Given the description of an element on the screen output the (x, y) to click on. 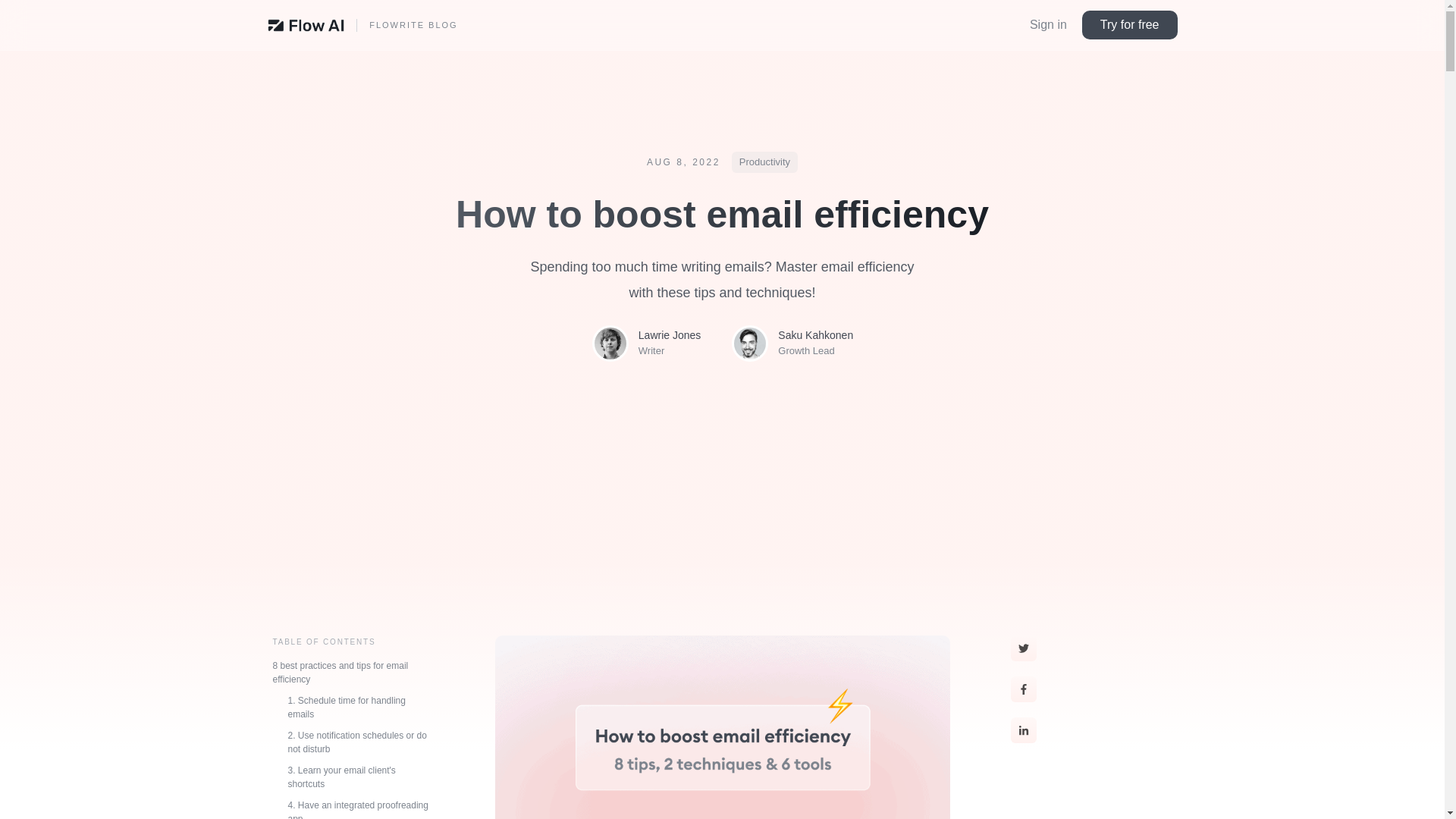
1. Schedule time for handling emails (349, 707)
8 best practices and tips for email efficiency (349, 672)
Productivity (764, 161)
Sign in (1048, 24)
4. Have an integrated proofreading app (349, 806)
3. Learn your email client's shortcuts (349, 777)
Try for free (1129, 24)
2. Use notification schedules or do not disturb (349, 742)
